Given the description of an element on the screen output the (x, y) to click on. 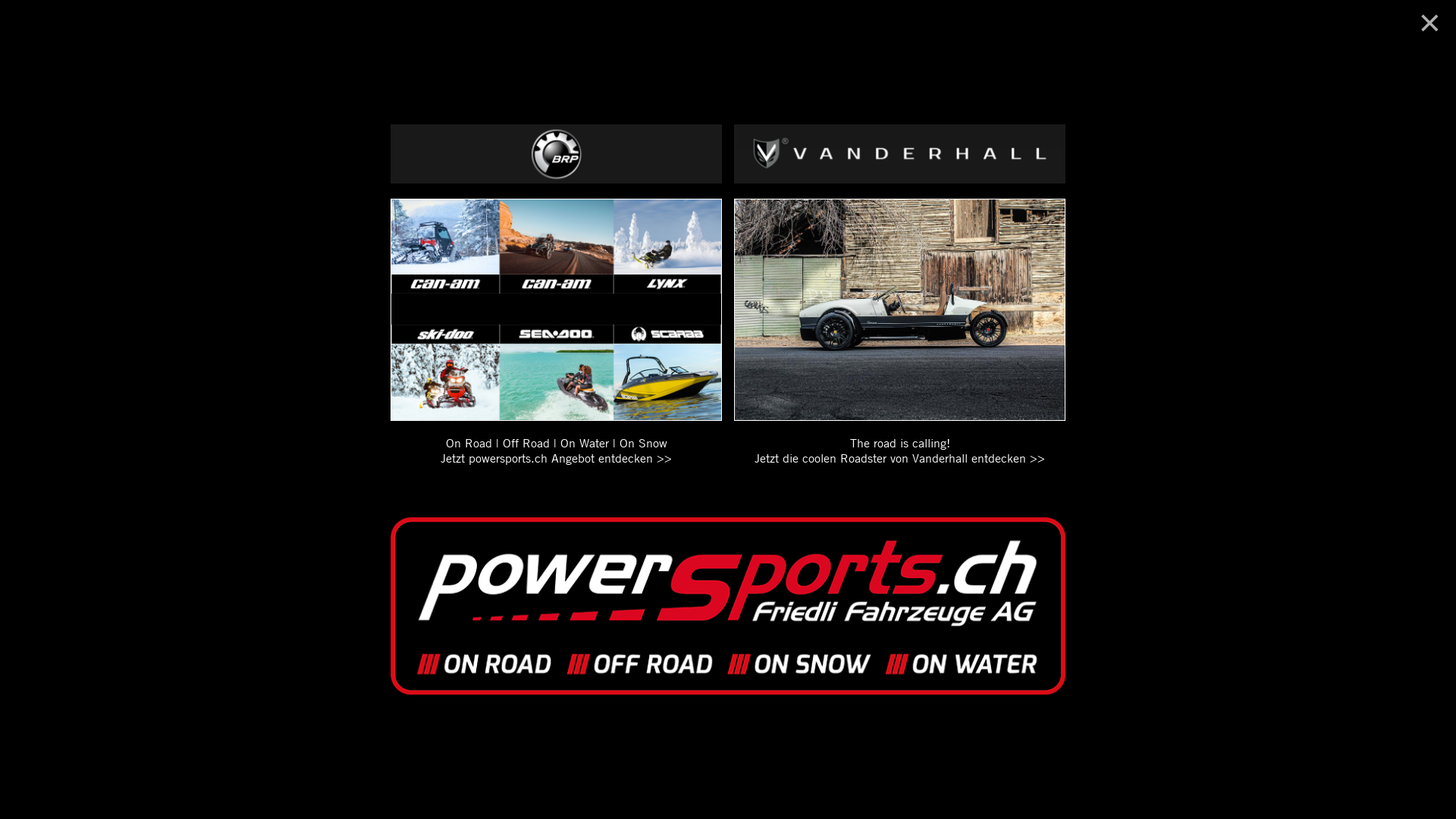
Technischer Kundendienstberater 100% (m/w) Element type: text (418, 681)
ON ROAD Element type: text (711, 26)
Folge uns auf Instagram Element type: hover (748, 482)
MIETEN Element type: text (658, 26)
Home Element type: text (535, 26)
ON SNOW Element type: text (913, 26)
ON WATER Element type: text (840, 26)
OFF ROAD Element type: text (771, 26)
News & Events Element type: text (594, 26)
Folge uns auf Facebook! Element type: hover (707, 482)
deutsch Element type: text (1103, 75)
Kontakt Element type: text (1151, 26)
